Given the description of an element on the screen output the (x, y) to click on. 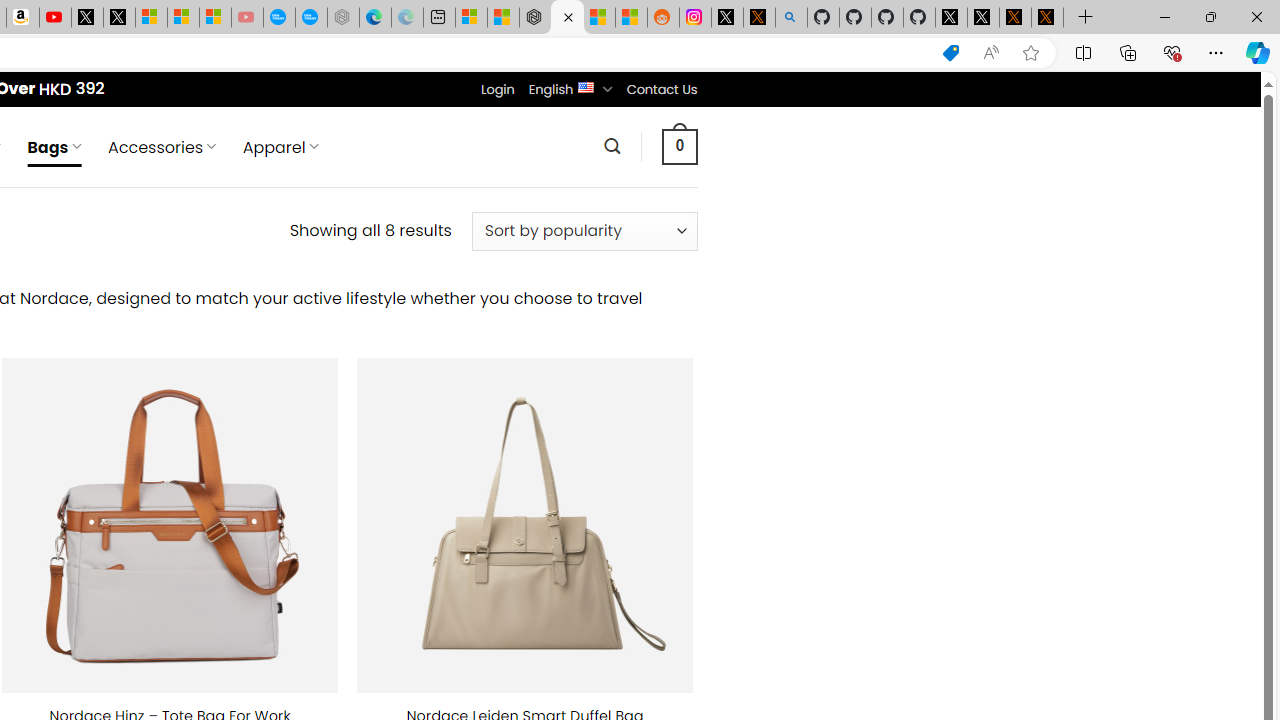
Profile / X (950, 17)
 0  (679, 146)
Shanghai, China Weather trends | Microsoft Weather (630, 17)
Day 1: Arriving in Yemen (surreal to be here) - YouTube (54, 17)
